Given the description of an element on the screen output the (x, y) to click on. 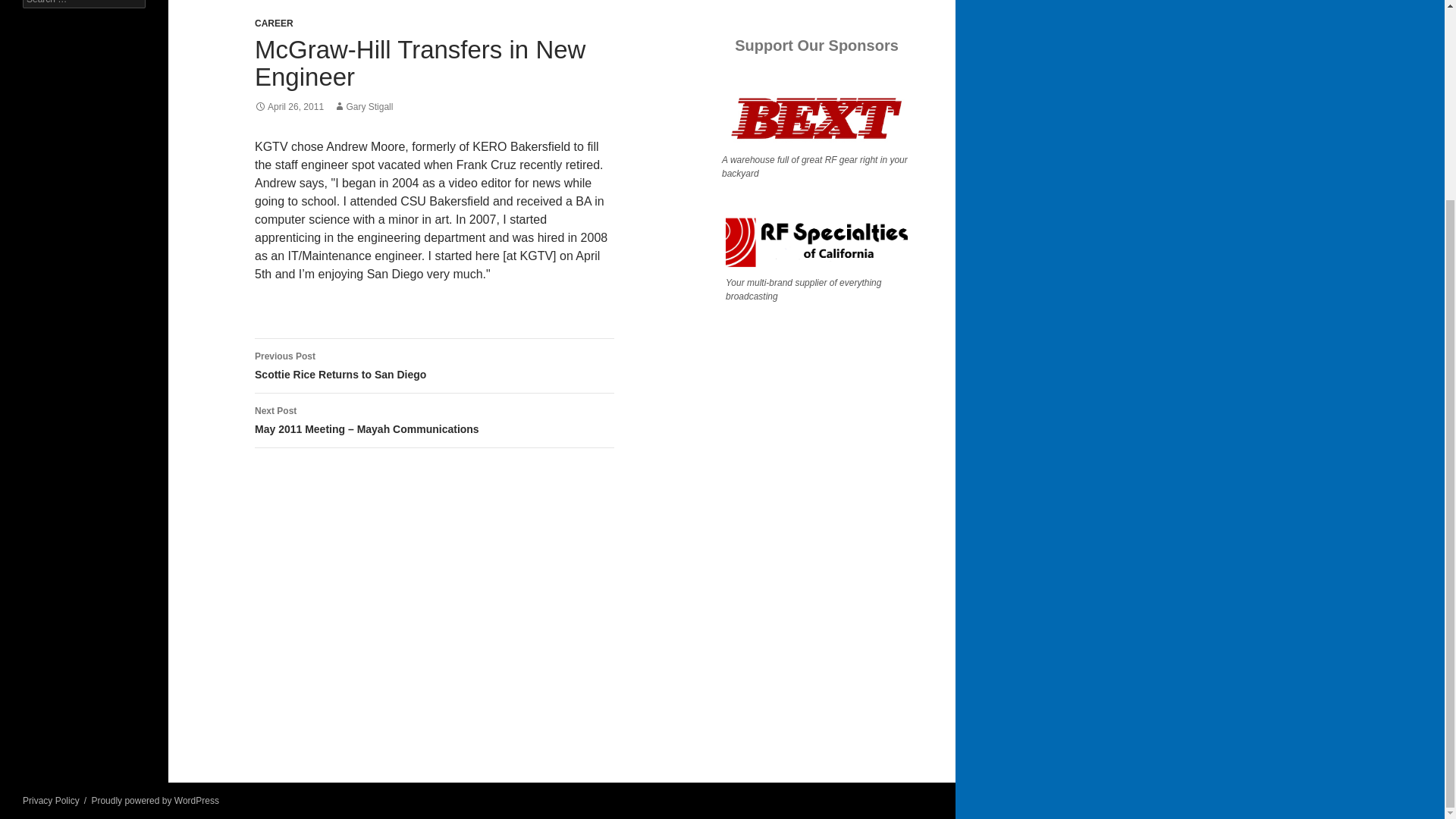
Proudly powered by WordPress (154, 800)
CAREER (274, 23)
Gary Stigall (434, 366)
Privacy Policy (363, 106)
April 26, 2011 (51, 800)
